Given the description of an element on the screen output the (x, y) to click on. 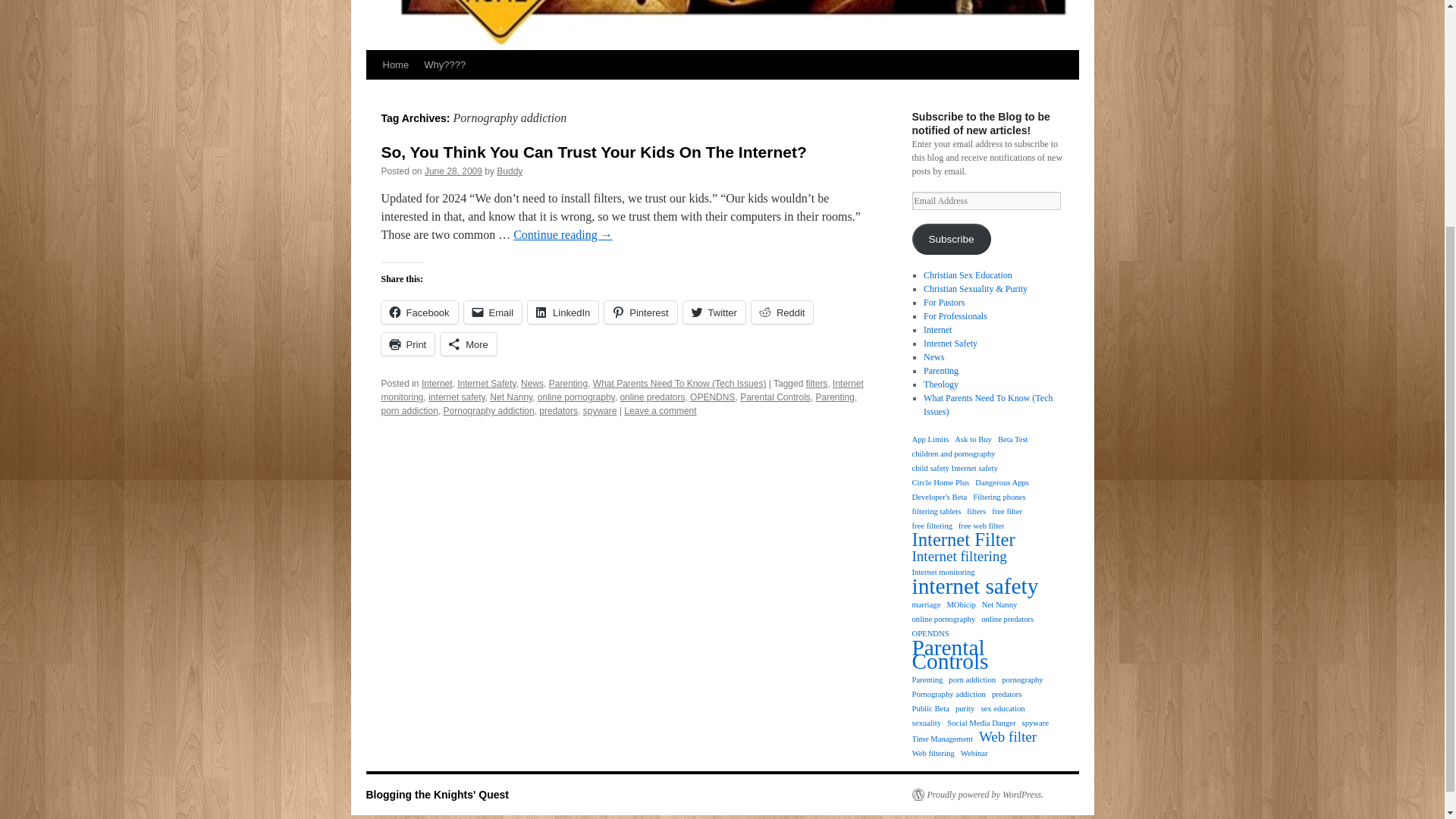
filters (817, 383)
Buddy (509, 171)
Print (406, 343)
Internet (437, 383)
View all posts by Buddy (509, 171)
9:31 pm (453, 171)
Subscribe (950, 238)
internet safety (456, 397)
Pinterest (640, 312)
Click to share on Facebook (418, 312)
Click to share on Pinterest (640, 312)
Click to print (406, 343)
predators (558, 410)
Skip to content (372, 92)
News (532, 383)
